Given the description of an element on the screen output the (x, y) to click on. 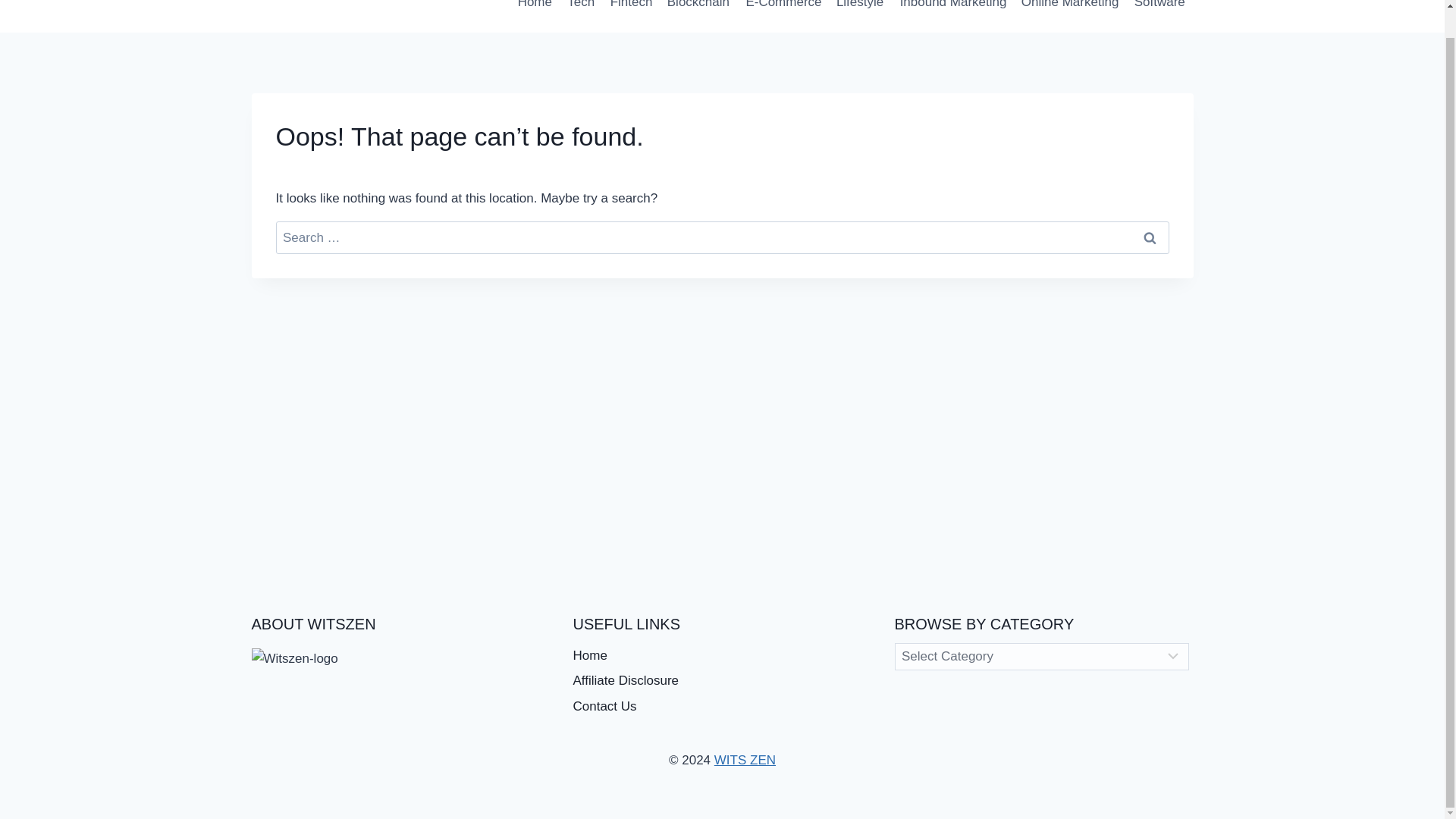
Blockchain (698, 10)
Search (1150, 237)
Inbound Marketing (952, 10)
Online Marketing (1069, 10)
Contact Us (722, 707)
WITS ZEN (745, 759)
Tech (580, 10)
Home (534, 10)
Affiliate Disclosure (722, 681)
Search (1150, 237)
